Given the description of an element on the screen output the (x, y) to click on. 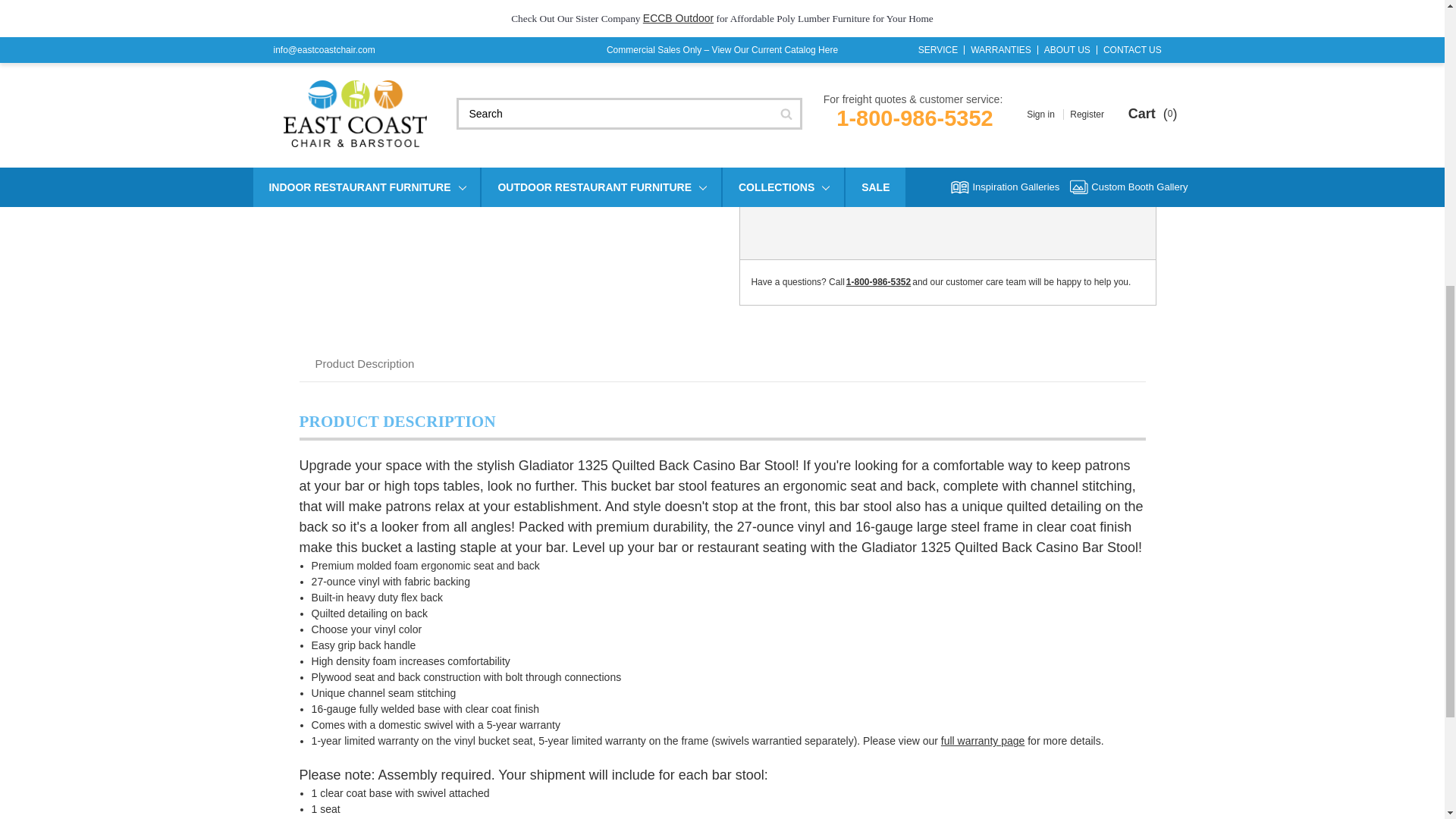
Add to Cart (988, 134)
1 (874, 131)
